Given the description of an element on the screen output the (x, y) to click on. 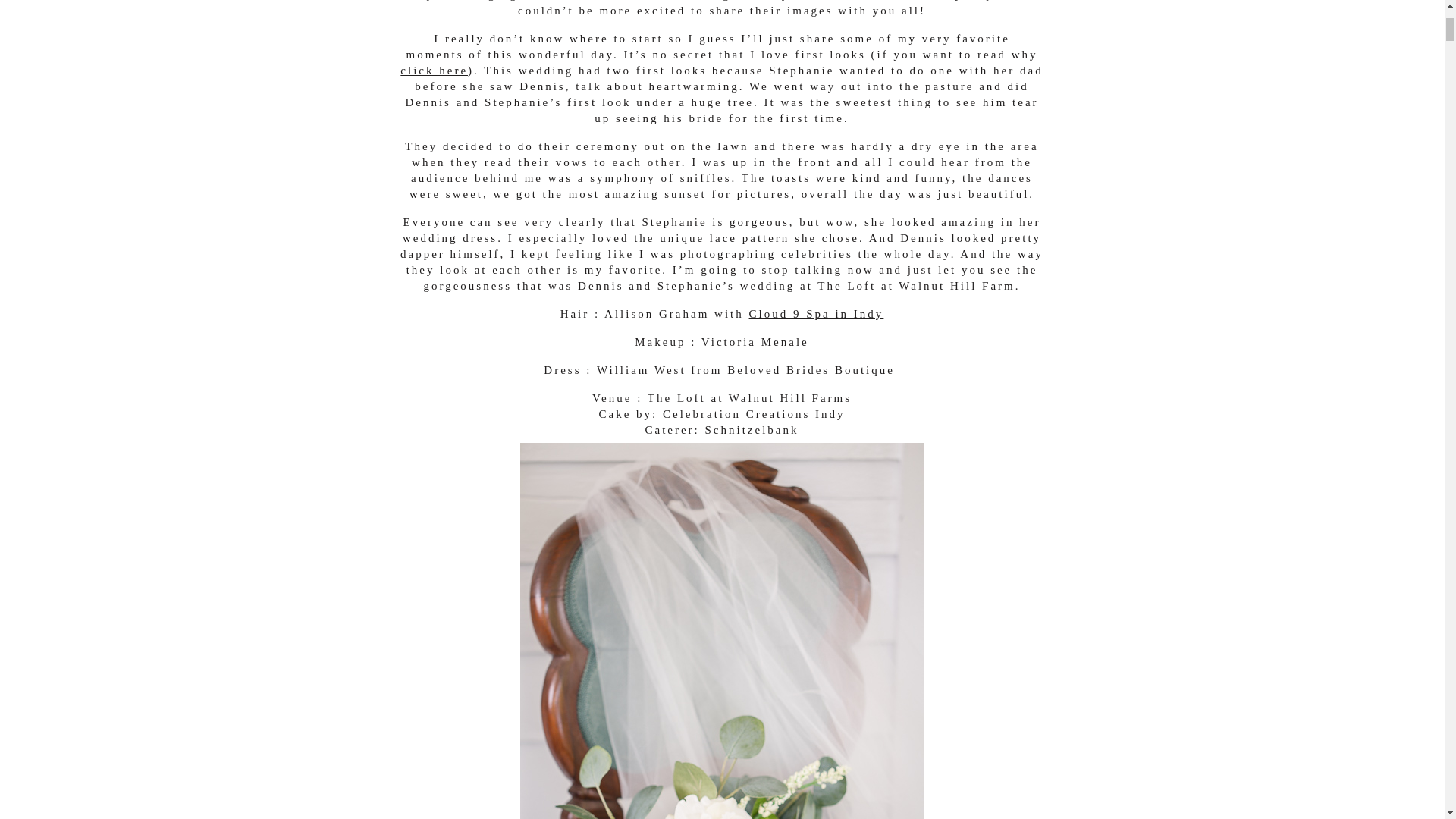
click here (433, 70)
Celebration Creations Indy (753, 413)
Schnitzelbank (751, 429)
The Loft at Walnut Hill Farms (749, 398)
Beloved Brides Boutique  (812, 369)
Cloud 9 Spa in Indy (816, 313)
